Given the description of an element on the screen output the (x, y) to click on. 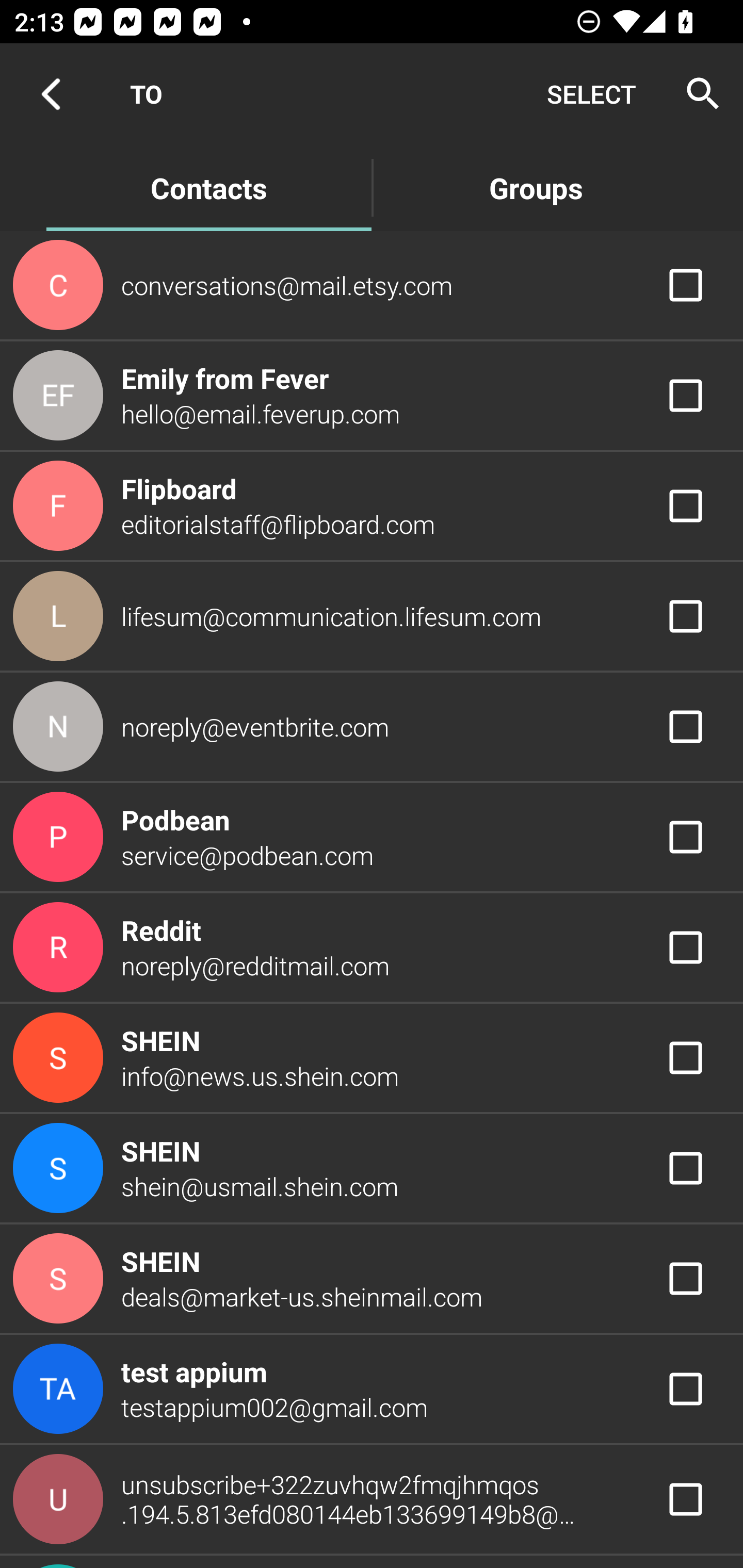
Navigate up (50, 93)
SELECT (590, 93)
Search (696, 93)
Contacts (208, 187)
Groups (535, 187)
conversations@mail.etsy.com (371, 284)
Emily from Fever hello@email.feverup.com (371, 395)
Flipboard editorialstaff@flipboard.com (371, 505)
lifesum@communication.lifesum.com (371, 616)
noreply@eventbrite.com (371, 726)
Podbean service@podbean.com (371, 836)
Reddit noreply@redditmail.com (371, 947)
SHEIN info@news.us.shein.com (371, 1057)
SHEIN shein@usmail.shein.com (371, 1168)
SHEIN deals@market-us.sheinmail.com (371, 1278)
test appium testappium002@gmail.com (371, 1388)
